Given the description of an element on the screen output the (x, y) to click on. 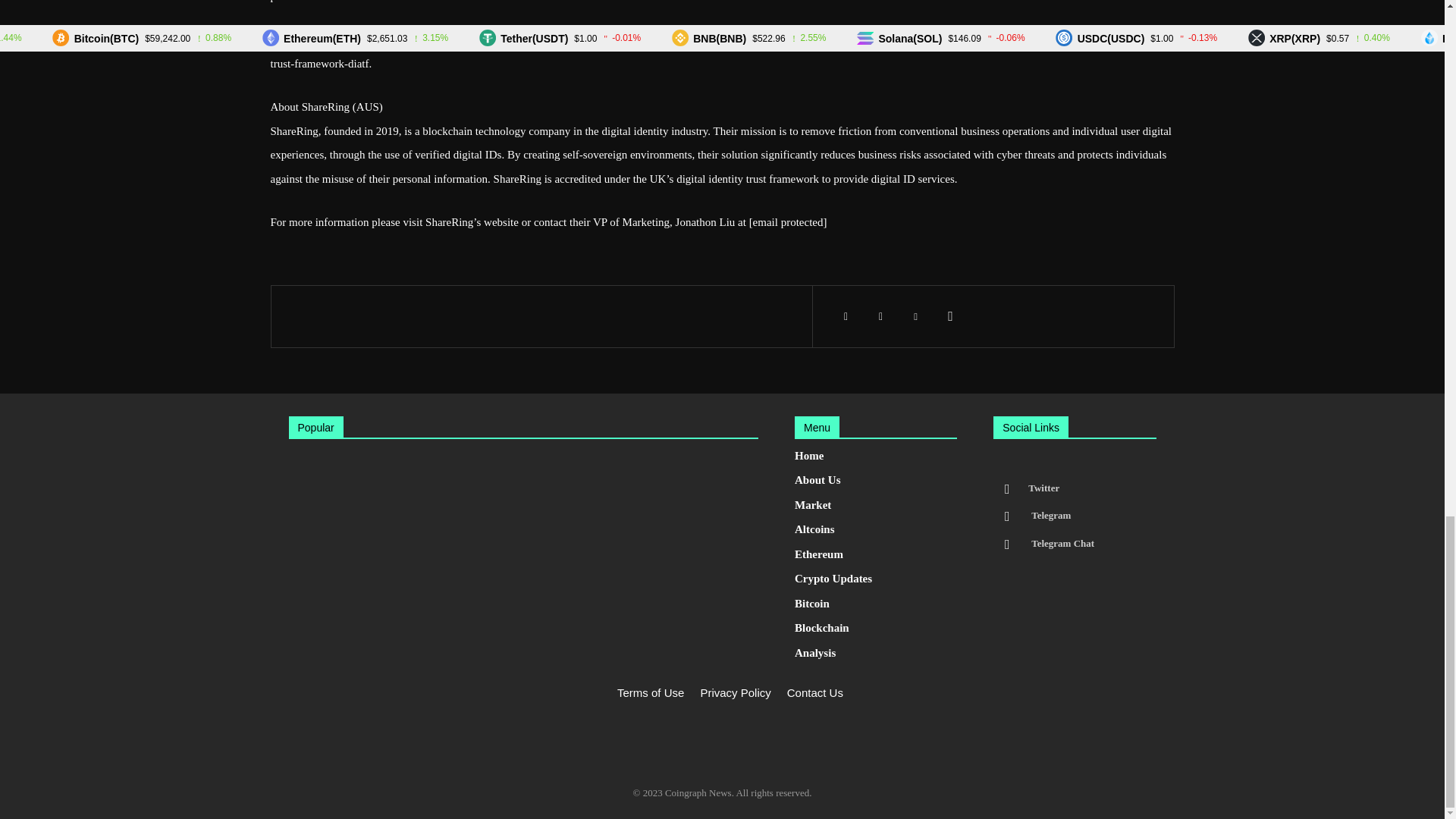
Twitter (881, 316)
Facebook (846, 316)
WhatsApp (951, 316)
Pinterest (916, 316)
